Given the description of an element on the screen output the (x, y) to click on. 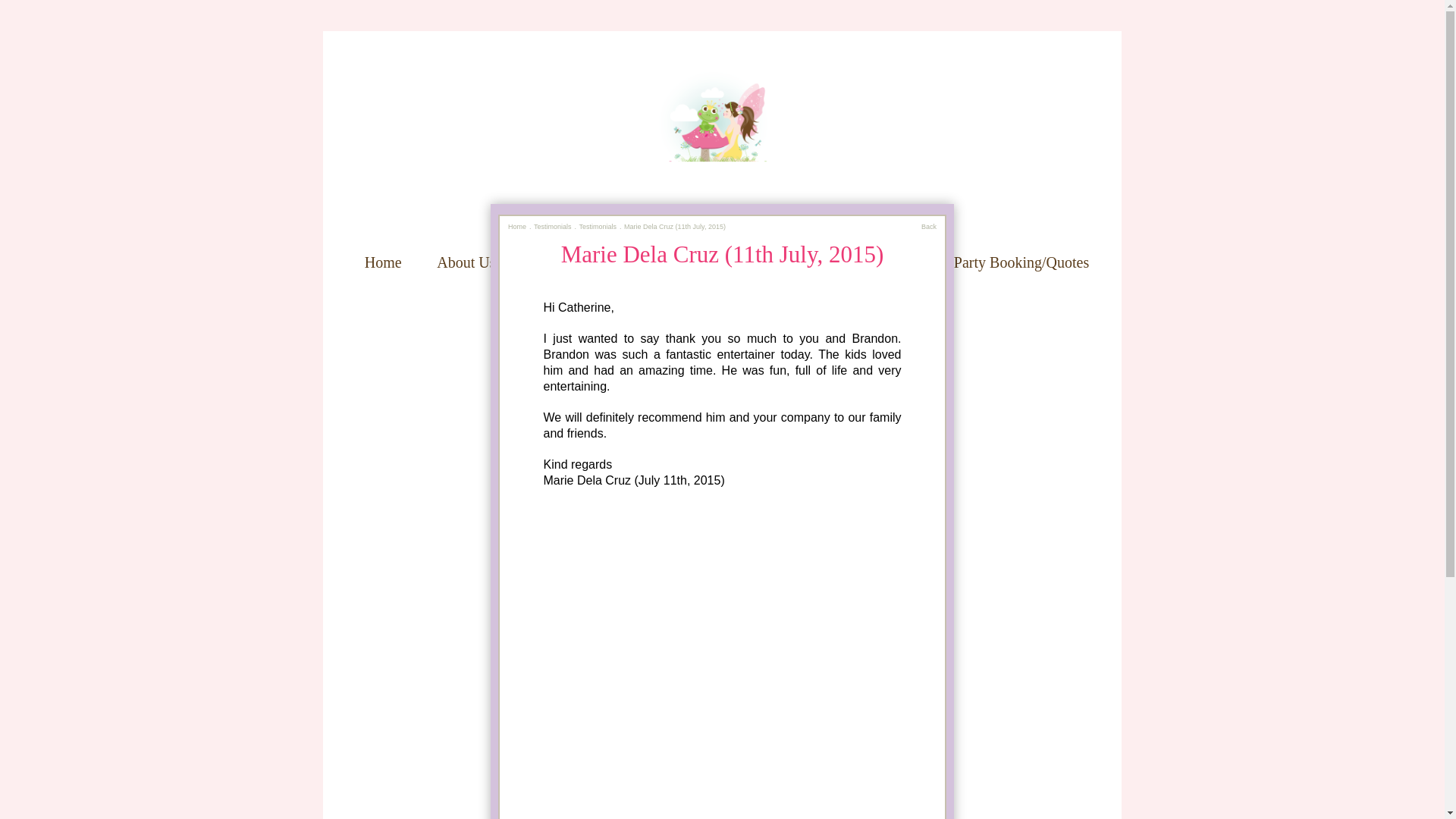
About Us (465, 262)
Testimonials (553, 226)
Home (516, 226)
Back (928, 226)
Contact (726, 277)
Fairy and the Frog (721, 137)
Go to Fairy and the Frog. (516, 226)
Go to the Testimonials Category archives. (598, 226)
Kids Party Venue (584, 262)
Testimonials (598, 226)
